Given the description of an element on the screen output the (x, y) to click on. 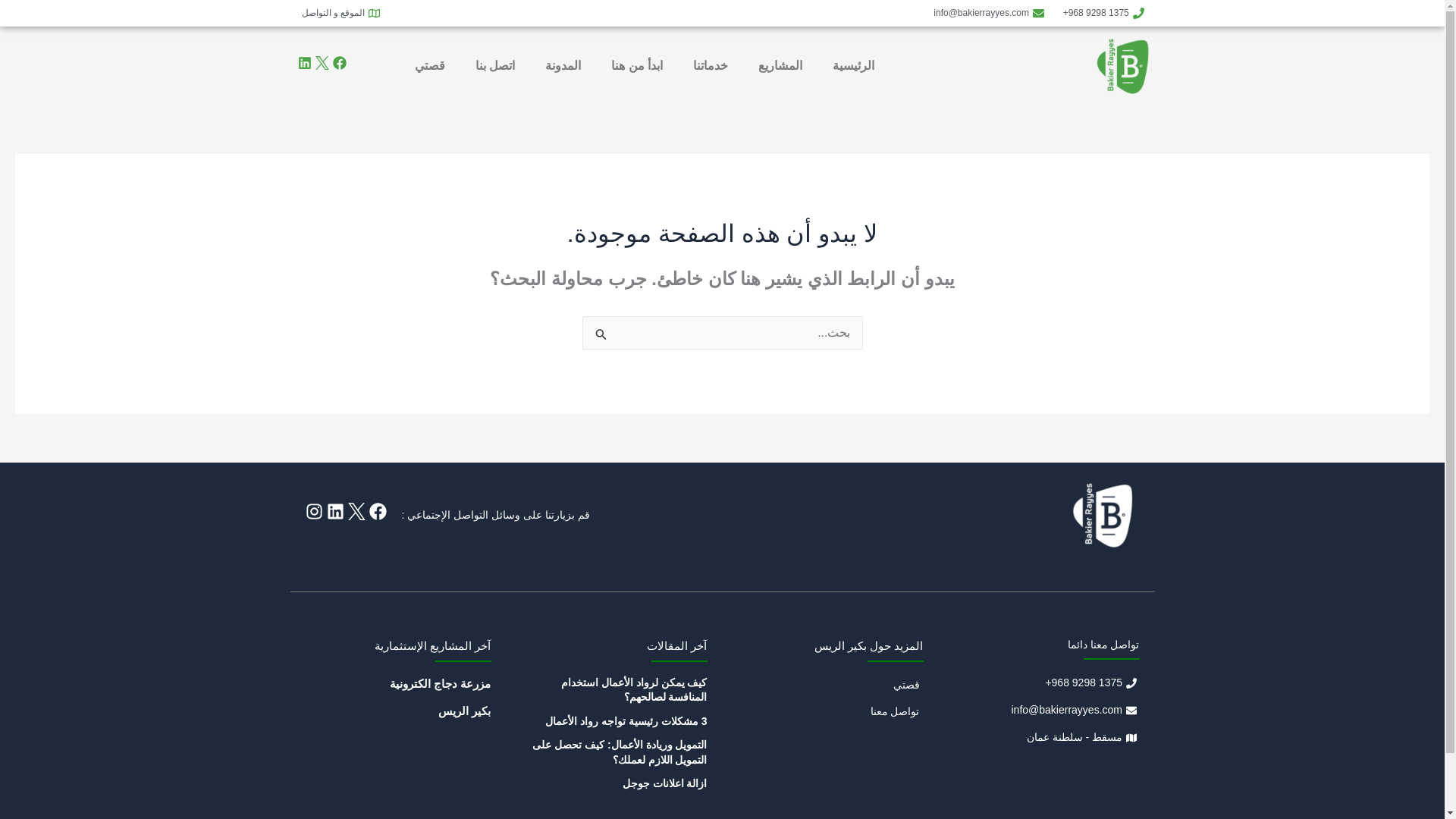
Instagram (312, 511)
Facebook (376, 511)
Linkedin (304, 62)
Linkedin (334, 511)
Facebook (338, 62)
